Given the description of an element on the screen output the (x, y) to click on. 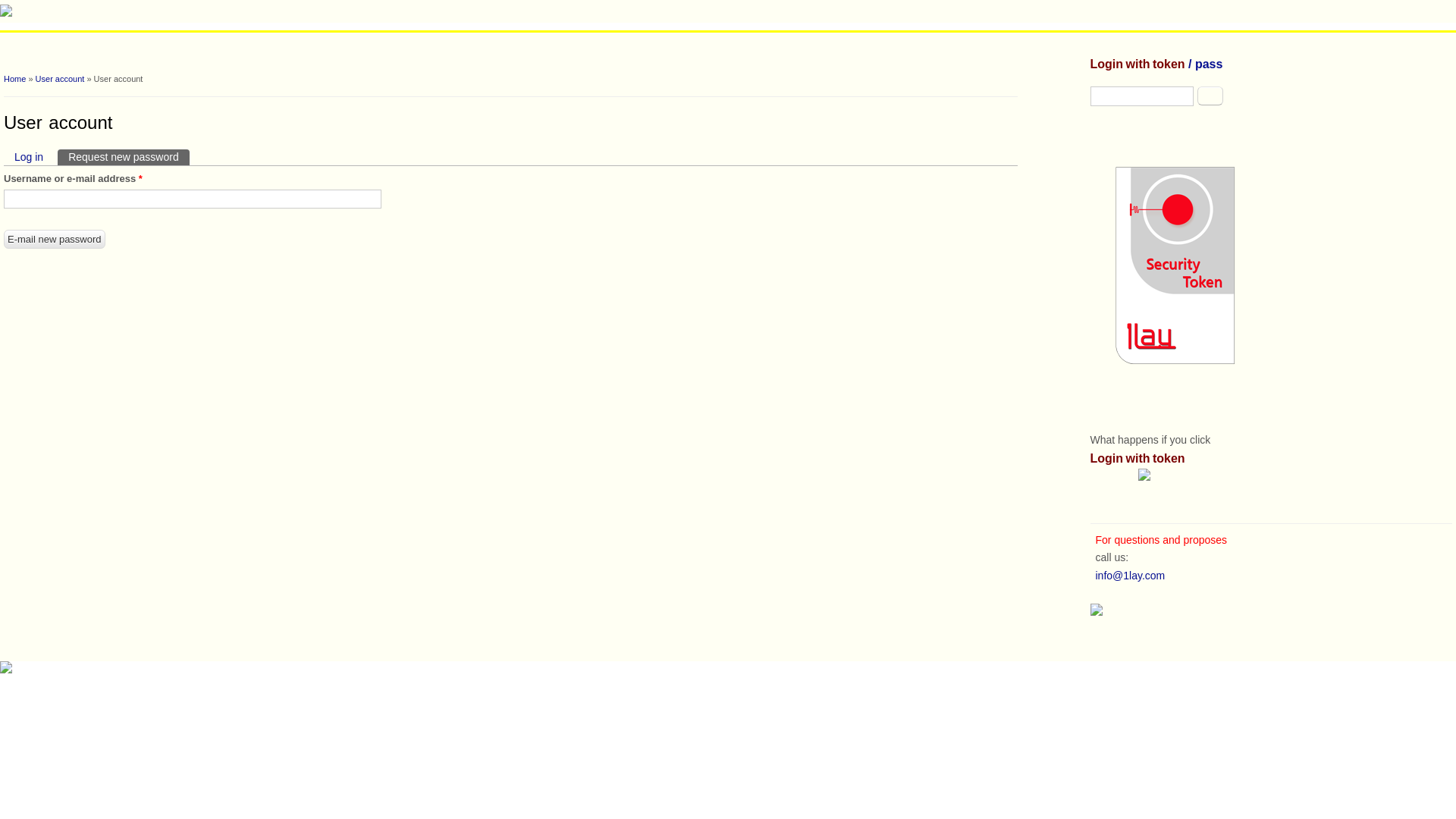
info@1lay.com Element type: text (1127, 575)
Search Element type: text (1209, 95)
User account Element type: text (59, 78)
Login with token Element type: text (1137, 457)
Log in Element type: text (28, 157)
Login with token Element type: text (1137, 63)
Request new password
(active tab) Element type: text (123, 157)
Enter the terms you wish to search for. Element type: hover (1141, 96)
/ pass Element type: text (1204, 63)
E-mail new password Element type: text (54, 238)
Home Element type: text (14, 78)
